Given the description of an element on the screen output the (x, y) to click on. 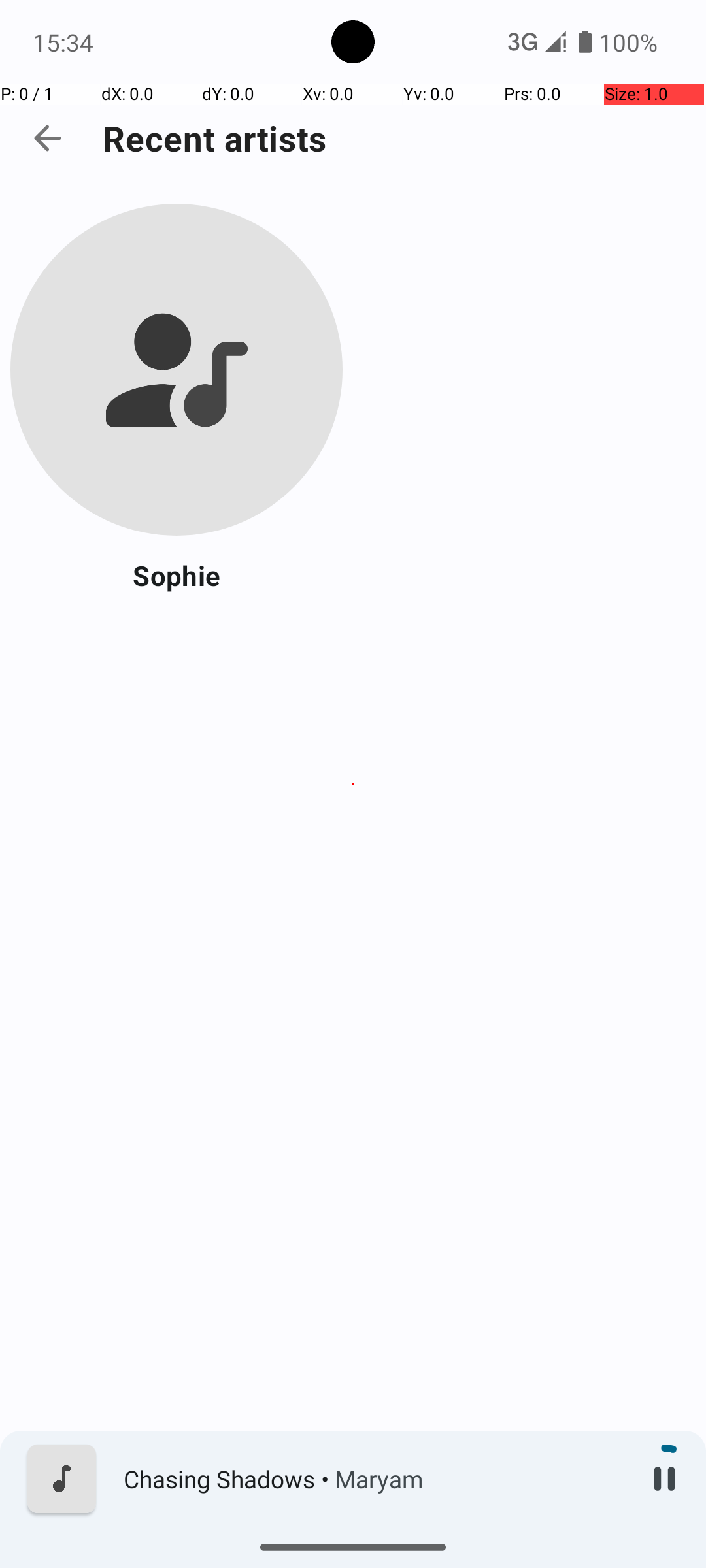
Chasing Shadows • Maryam Element type: android.widget.TextView (372, 1478)
Sophie Element type: android.widget.TextView (176, 574)
